Given the description of an element on the screen output the (x, y) to click on. 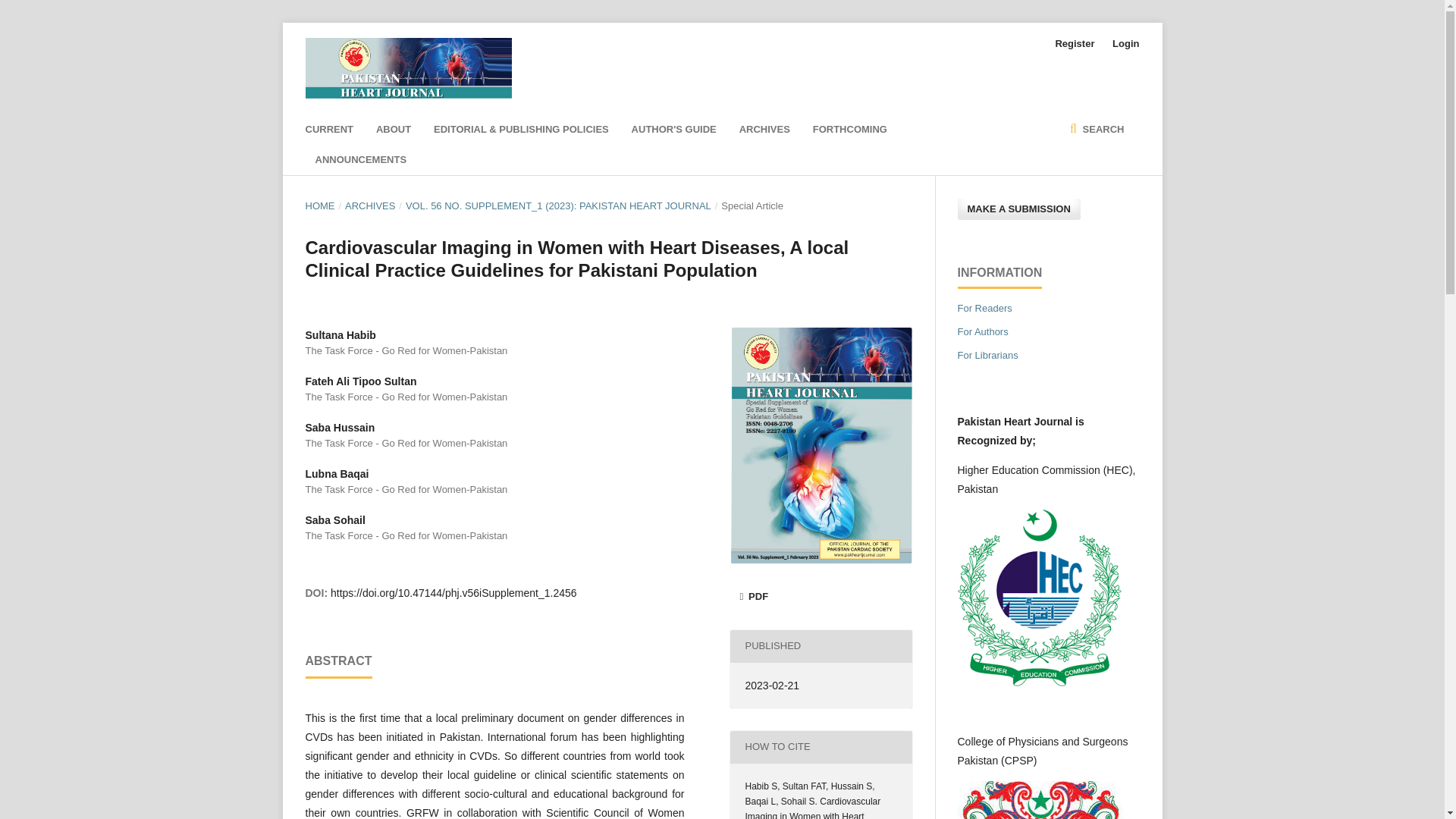
ABOUT (392, 129)
ARCHIVES (764, 129)
CURRENT (328, 129)
AUTHOR'S GUIDE (673, 129)
FORTHCOMING (849, 129)
